Given the description of an element on the screen output the (x, y) to click on. 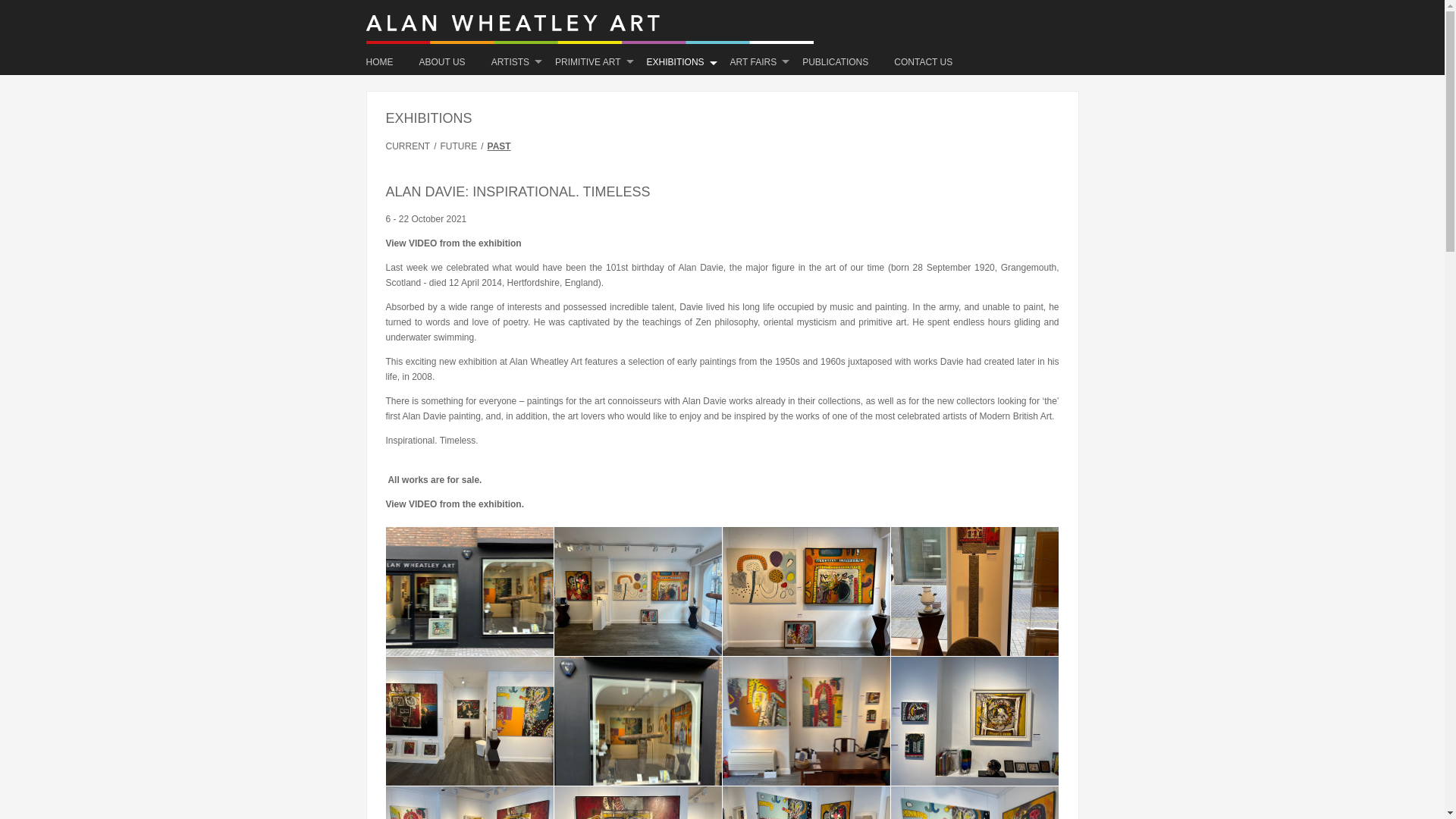
CONTACT US (922, 62)
HOME (385, 62)
FUTURE (458, 145)
CURRENT (409, 145)
ARTISTS (510, 62)
PAST (499, 145)
ABOUT US (442, 62)
View VIDEO from the exhibition. (453, 503)
View VIDEO from the exhibition (453, 243)
PUBLICATIONS (834, 62)
PRIMITIVE ART (587, 62)
ART FAIRS (753, 62)
EXHIBITIONS (675, 62)
